Given the description of an element on the screen output the (x, y) to click on. 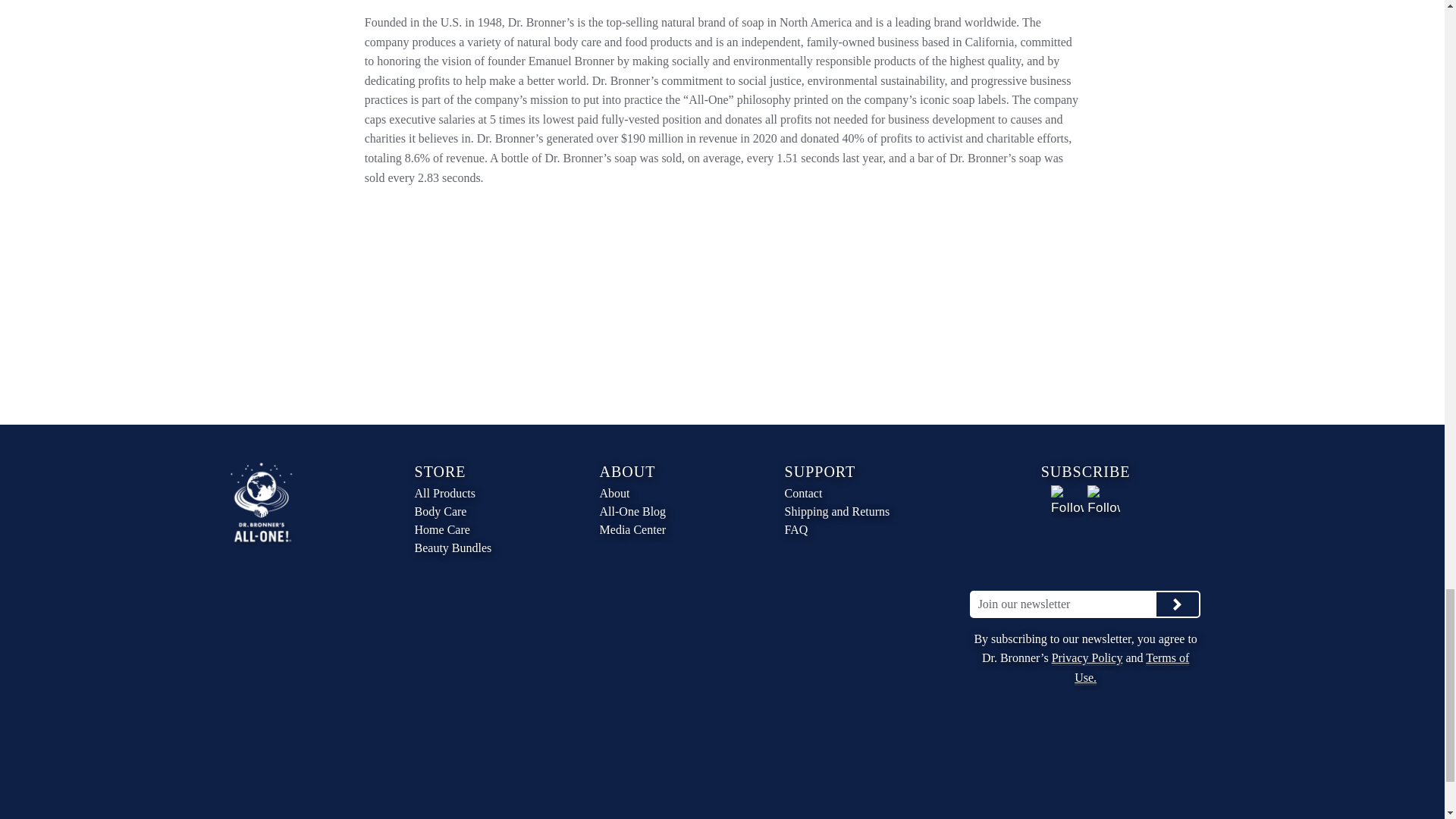
Media Center (667, 529)
Dr. Bronner's Ireland on Facebook (1067, 501)
Dr. Bronner's Ireland on Instagram (1103, 501)
About (667, 493)
Beauty Bundles (482, 547)
All-One Blog (667, 511)
Body Care (482, 511)
All Products (482, 493)
Home Care (482, 529)
